Given the description of an element on the screen output the (x, y) to click on. 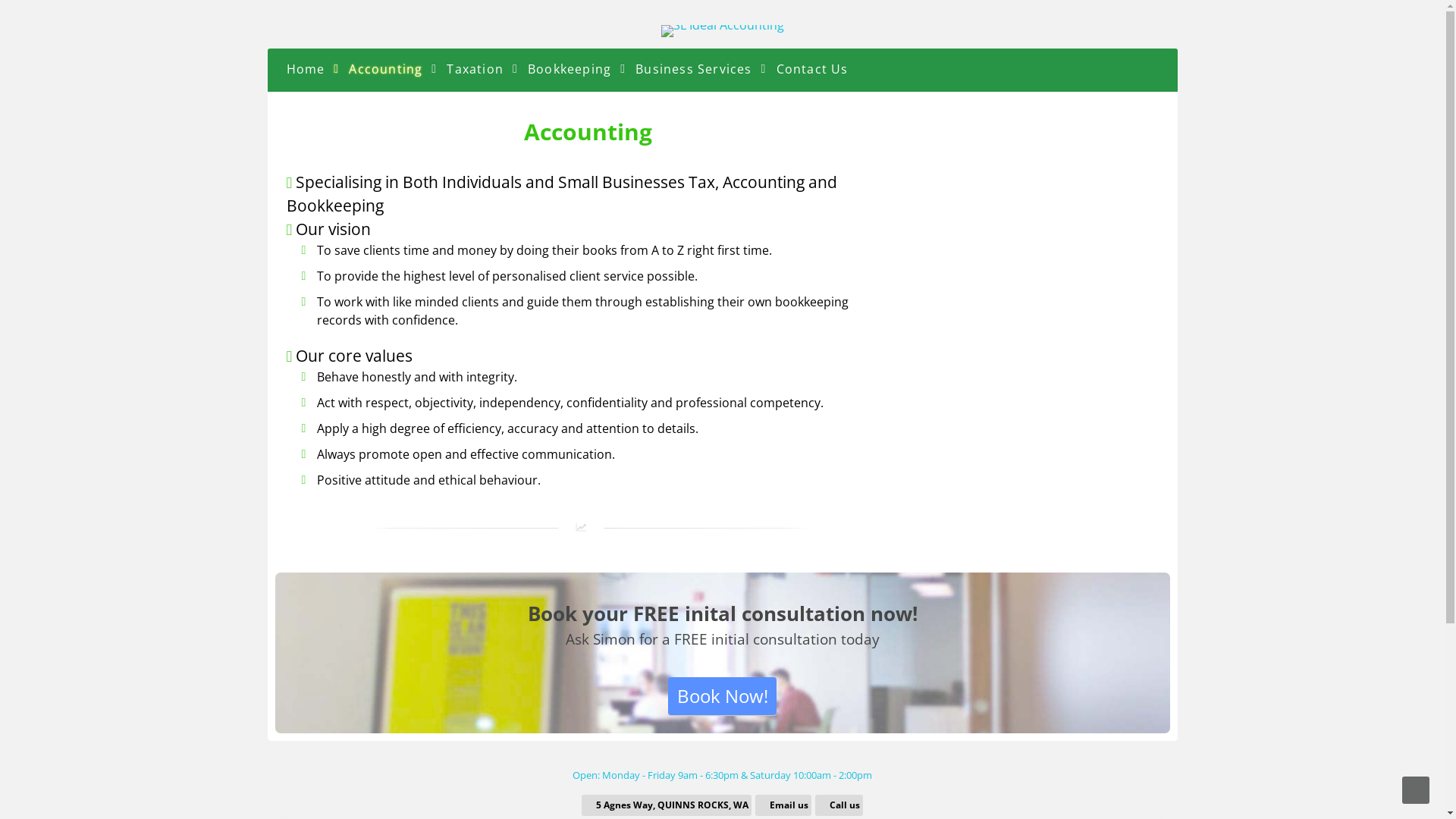
Business Services Element type: text (693, 68)
Book Now! Element type: text (722, 696)
Email us Element type: text (784, 804)
Contact Us Element type: text (812, 68)
SL Ideal Accounting Element type: hover (722, 24)
Bookkeeping Element type: text (569, 68)
Taxation Element type: text (474, 68)
Accounting Element type: text (385, 68)
Home Element type: text (304, 68)
5 Agnes Way, QUINNS ROCKS, WA Element type: text (667, 804)
Call us Element type: text (838, 804)
